Given the description of an element on the screen output the (x, y) to click on. 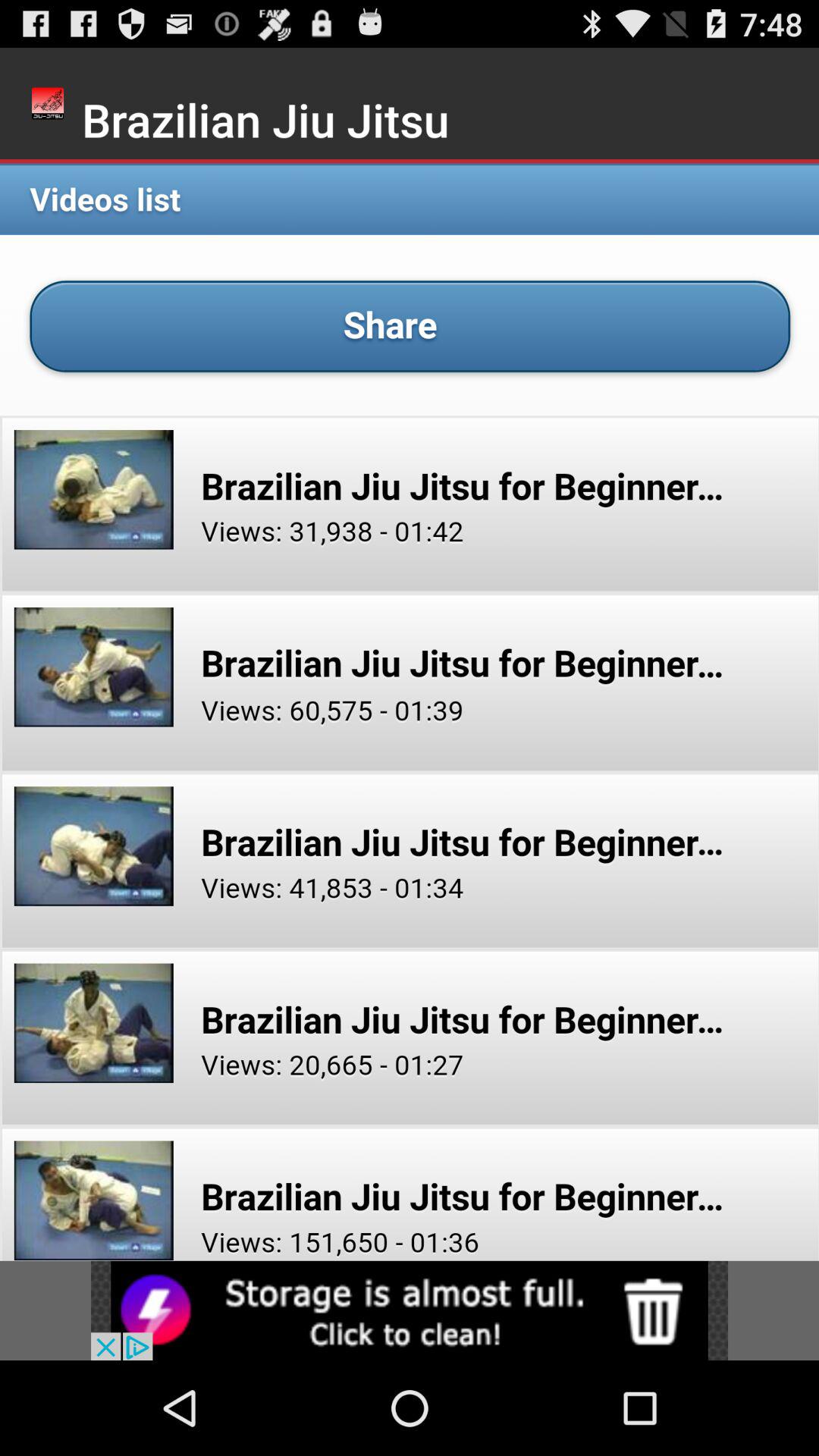
advertisement (409, 1310)
